Given the description of an element on the screen output the (x, y) to click on. 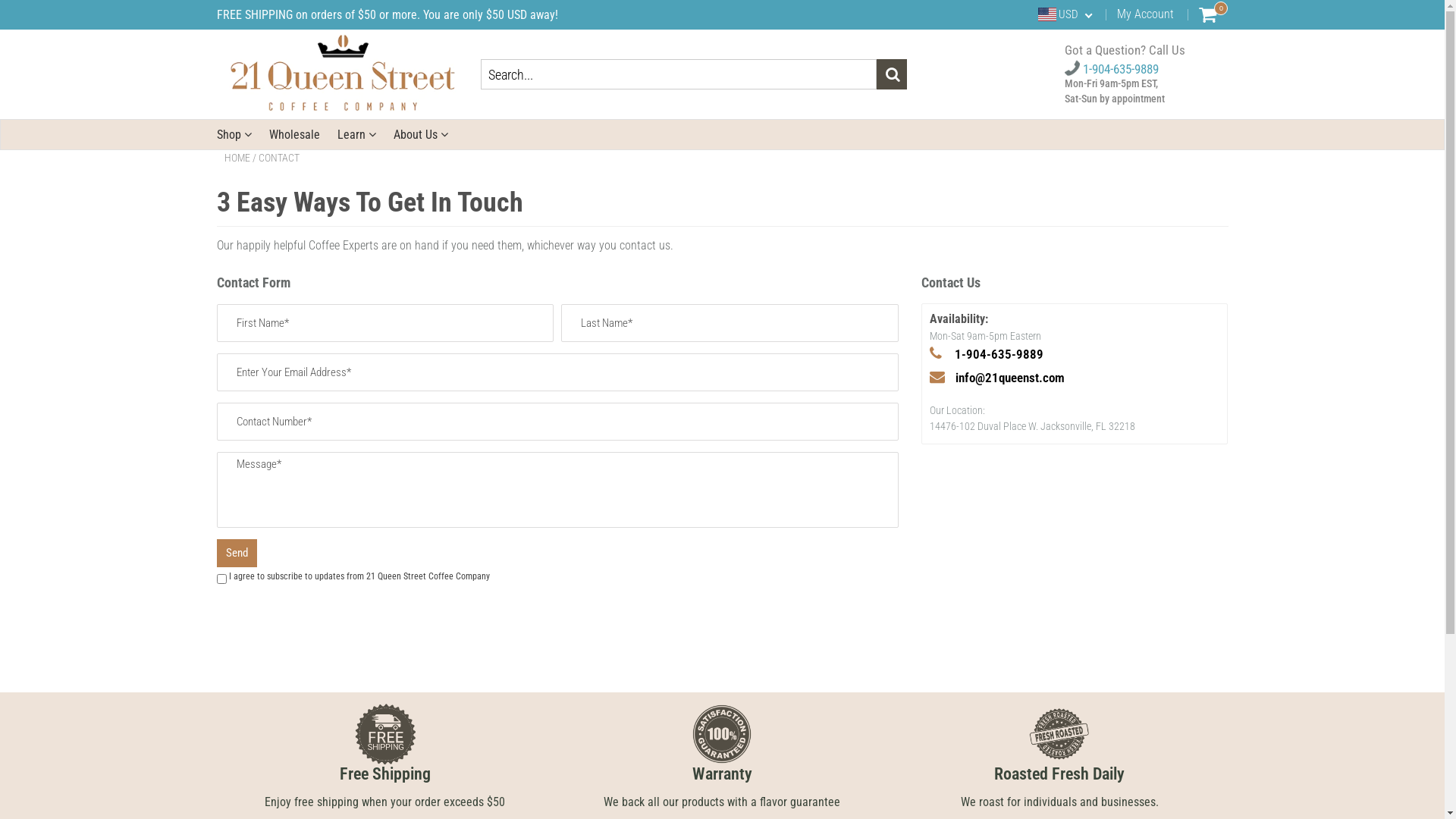
My Account Element type: text (1145, 13)
Wholesale Element type: text (293, 134)
About Us Element type: text (419, 134)
1-904-635-9889 Element type: text (997, 353)
0 Element type: text (1207, 14)
Shop Element type: text (233, 134)
HOME Element type: text (237, 157)
Learn Element type: text (355, 134)
1-904-635-9889 Element type: text (1111, 68)
Send Element type: text (236, 553)
info@21queenst.com Element type: text (1009, 377)
